Given the description of an element on the screen output the (x, y) to click on. 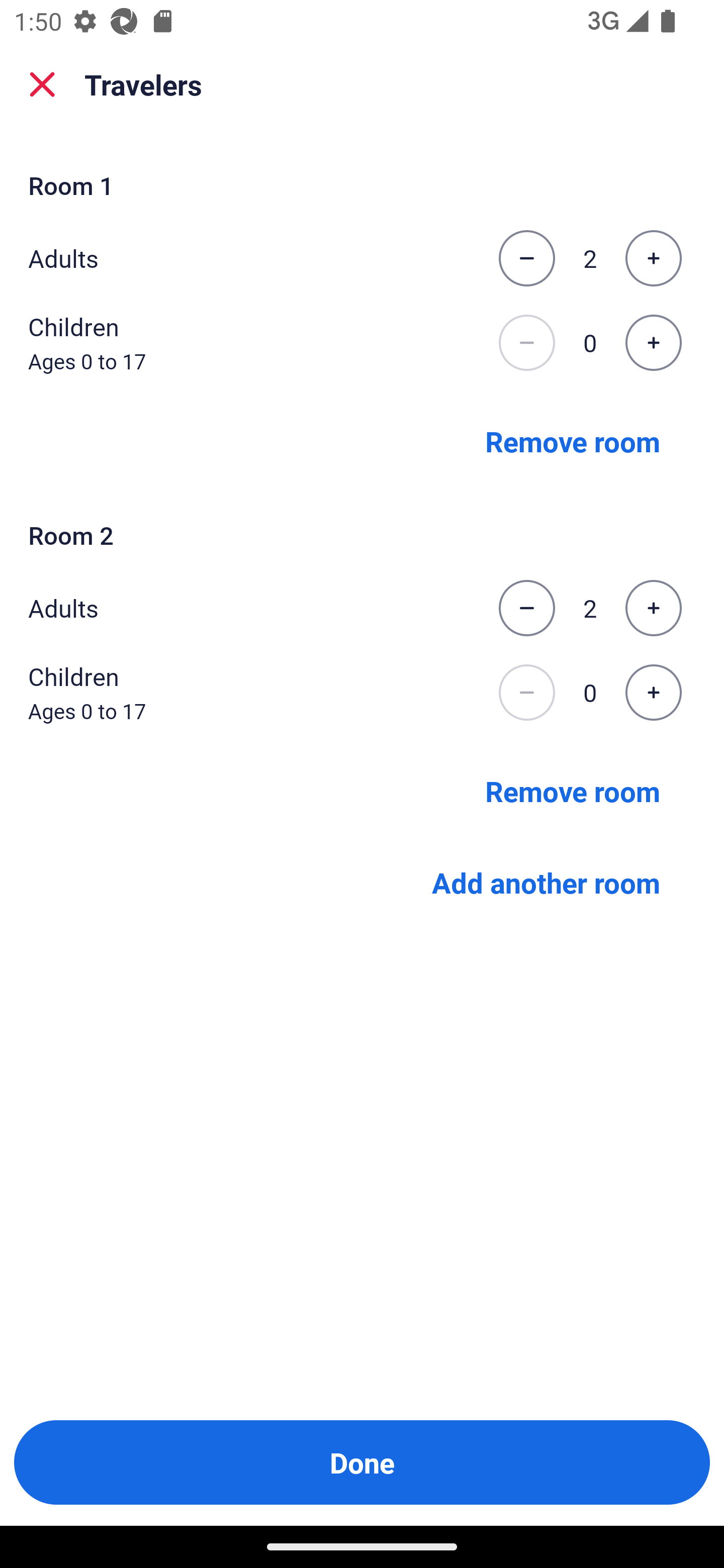
close (42, 84)
Decrease the number of adults (526, 258)
Increase the number of adults (653, 258)
Decrease the number of children (526, 343)
Increase the number of children (653, 343)
Remove room (572, 440)
Decrease the number of adults (526, 608)
Increase the number of adults (653, 608)
Decrease the number of children (526, 692)
Increase the number of children (653, 692)
Remove room (572, 790)
Add another room (545, 882)
Done (361, 1462)
